Given the description of an element on the screen output the (x, y) to click on. 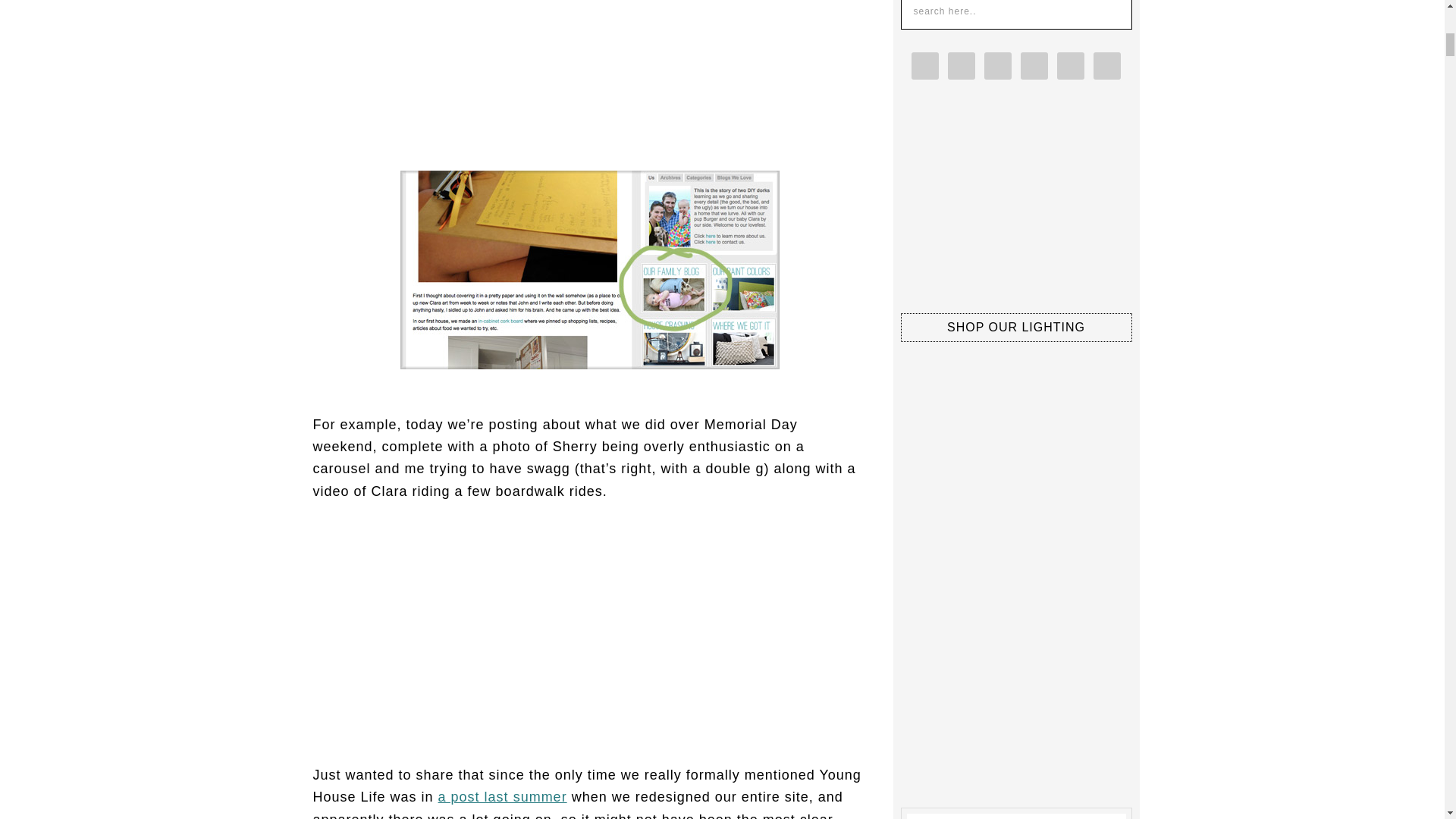
a post last summer (502, 796)
